Given the description of an element on the screen output the (x, y) to click on. 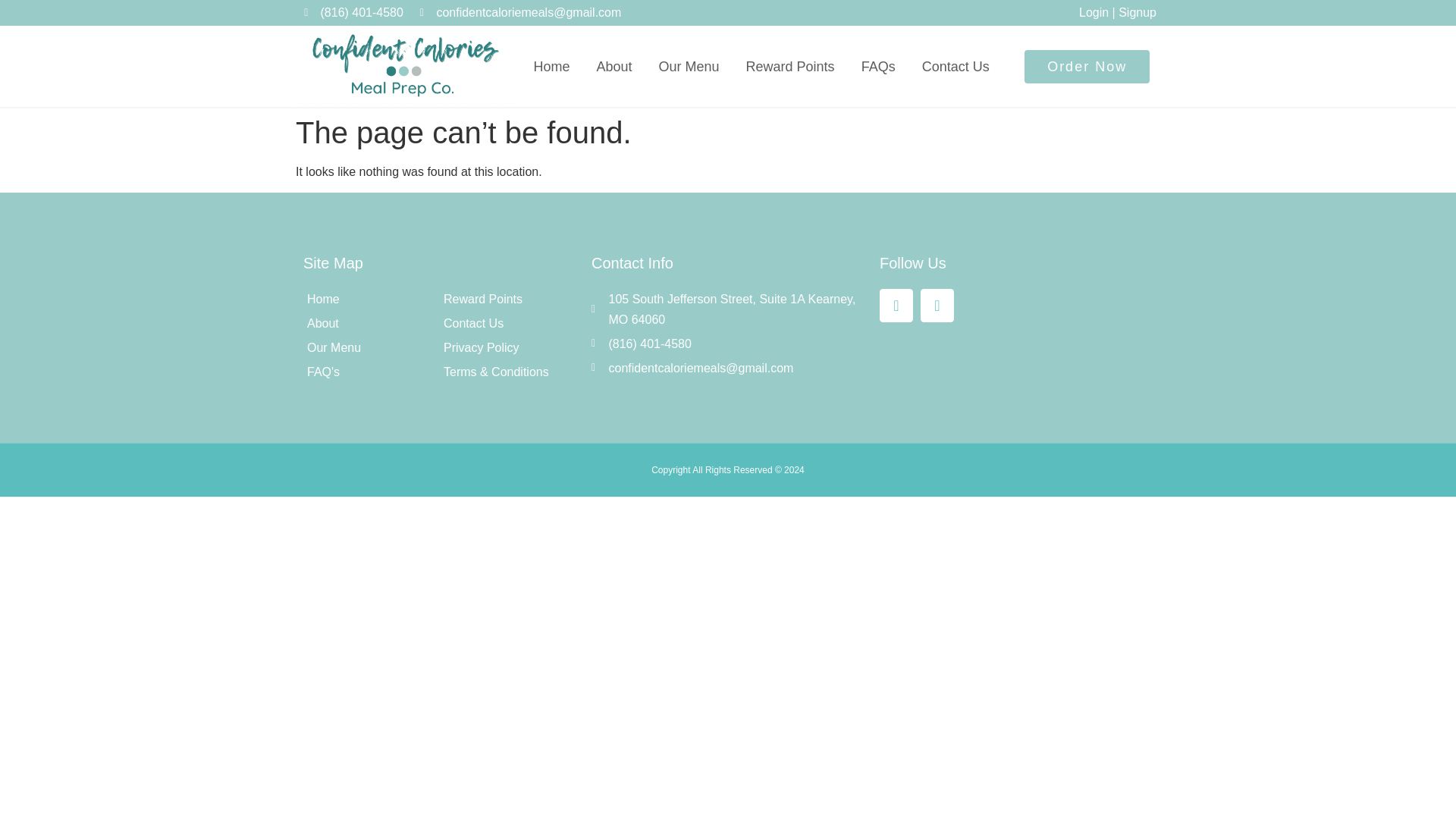
Order Now (1087, 66)
Home (550, 66)
Our Menu (370, 347)
Contact Us (955, 66)
Privacy Policy (507, 347)
About (370, 322)
Contact Us (507, 322)
Reward Points (789, 66)
FAQ's (370, 371)
FAQs (878, 66)
About (613, 66)
Reward Points (507, 299)
Home (370, 299)
Our Menu (689, 66)
